Given the description of an element on the screen output the (x, y) to click on. 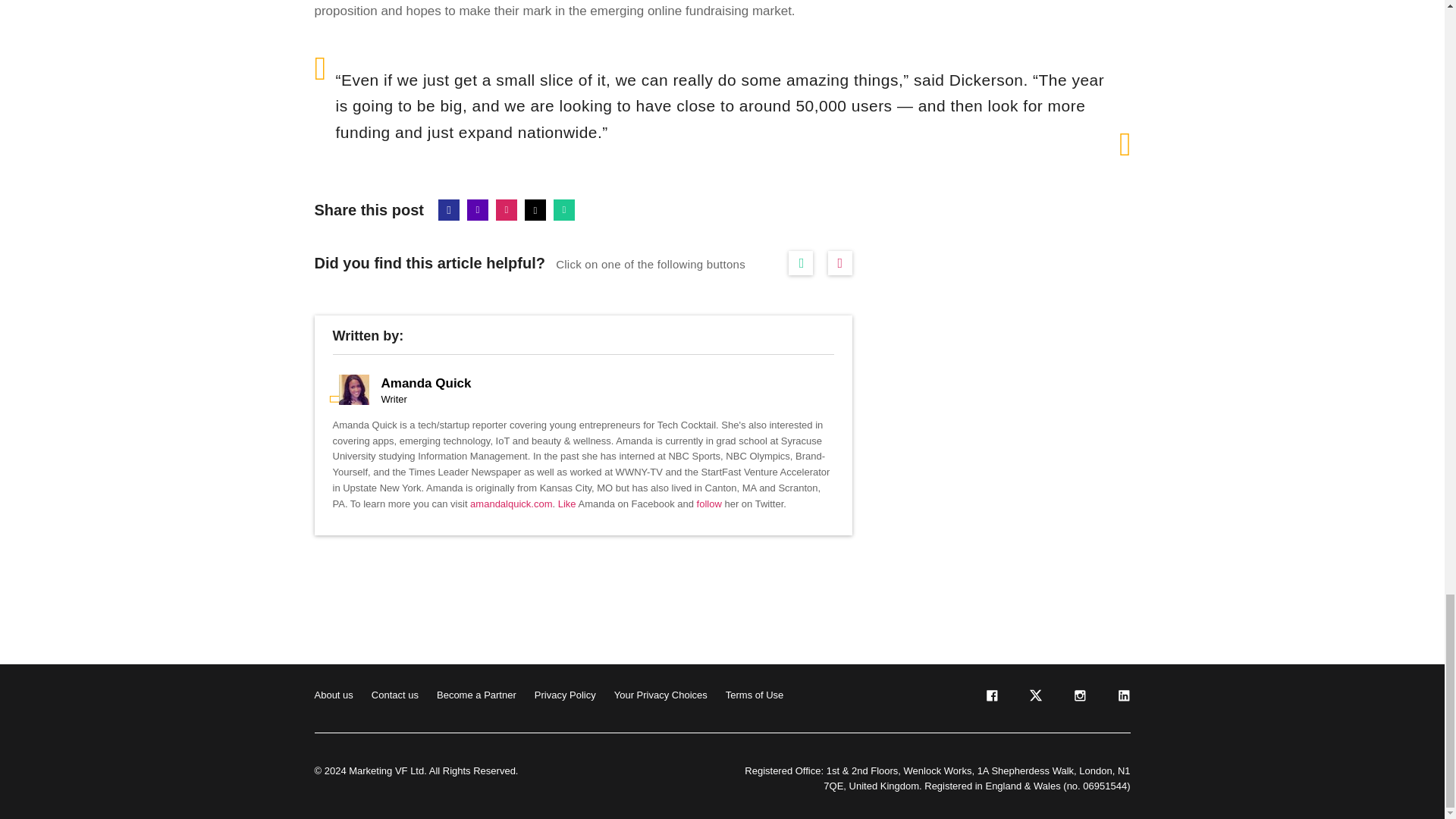
Twitter-x (535, 209)
Facebook (449, 209)
facebook (990, 698)
Flipboard (506, 209)
Whatsapp (564, 209)
twitter-x (1034, 698)
instagram (1078, 698)
linkedin (1122, 698)
Linkedin (477, 209)
